Given the description of an element on the screen output the (x, y) to click on. 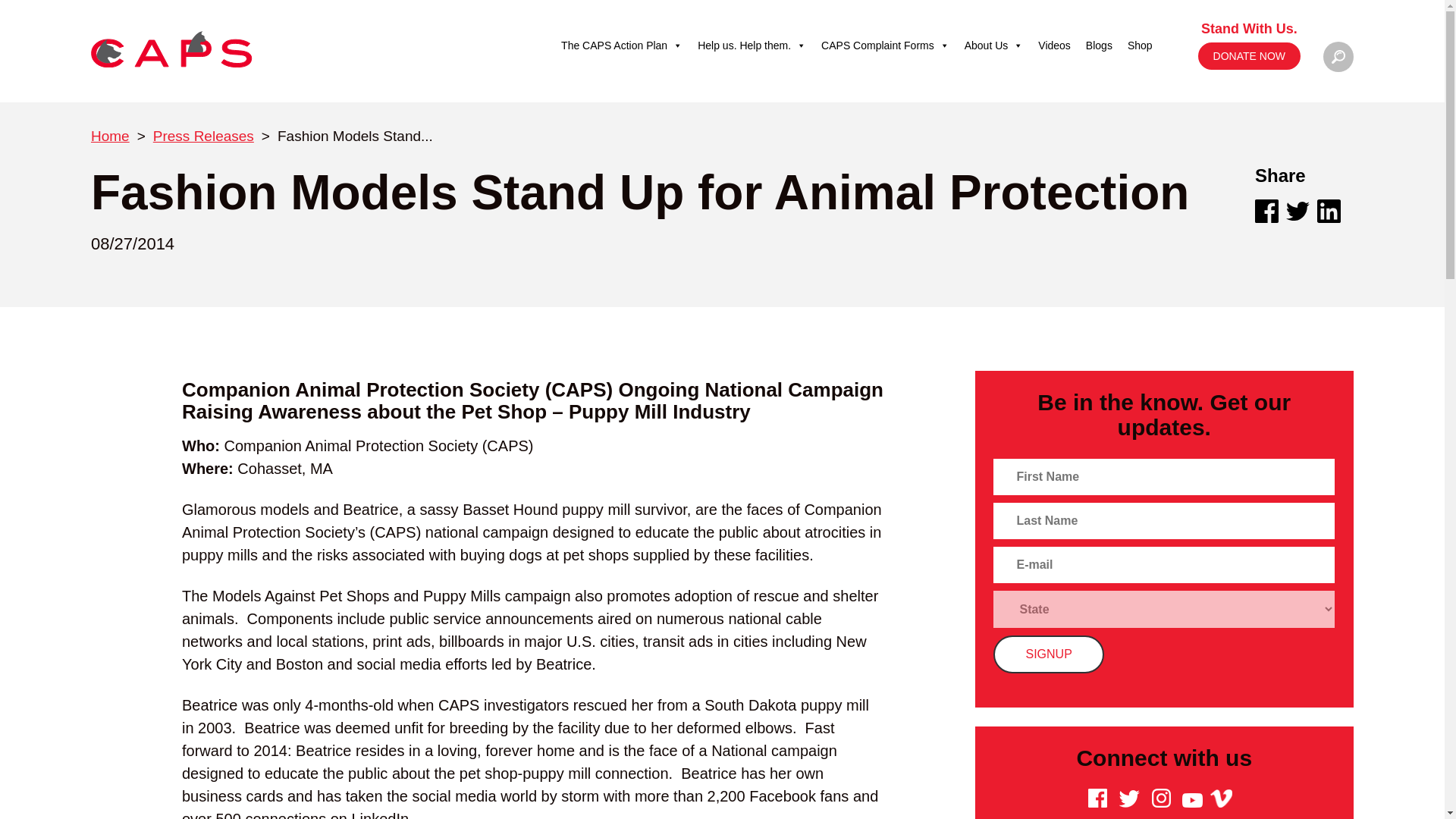
CAPS Complaint Forms (884, 45)
Companion Animal Protection Society (170, 48)
Shop (1139, 45)
Share on LinkedIn (1328, 210)
Share on Facebook (1266, 210)
Signup (1047, 654)
The CAPS Action Plan (621, 45)
Home (109, 135)
Share on Twitter (1296, 210)
Videos (1054, 45)
About Us (993, 45)
Help us. Help them. (751, 45)
Blogs (1098, 45)
DONATE NOW (1249, 55)
